Given the description of an element on the screen output the (x, y) to click on. 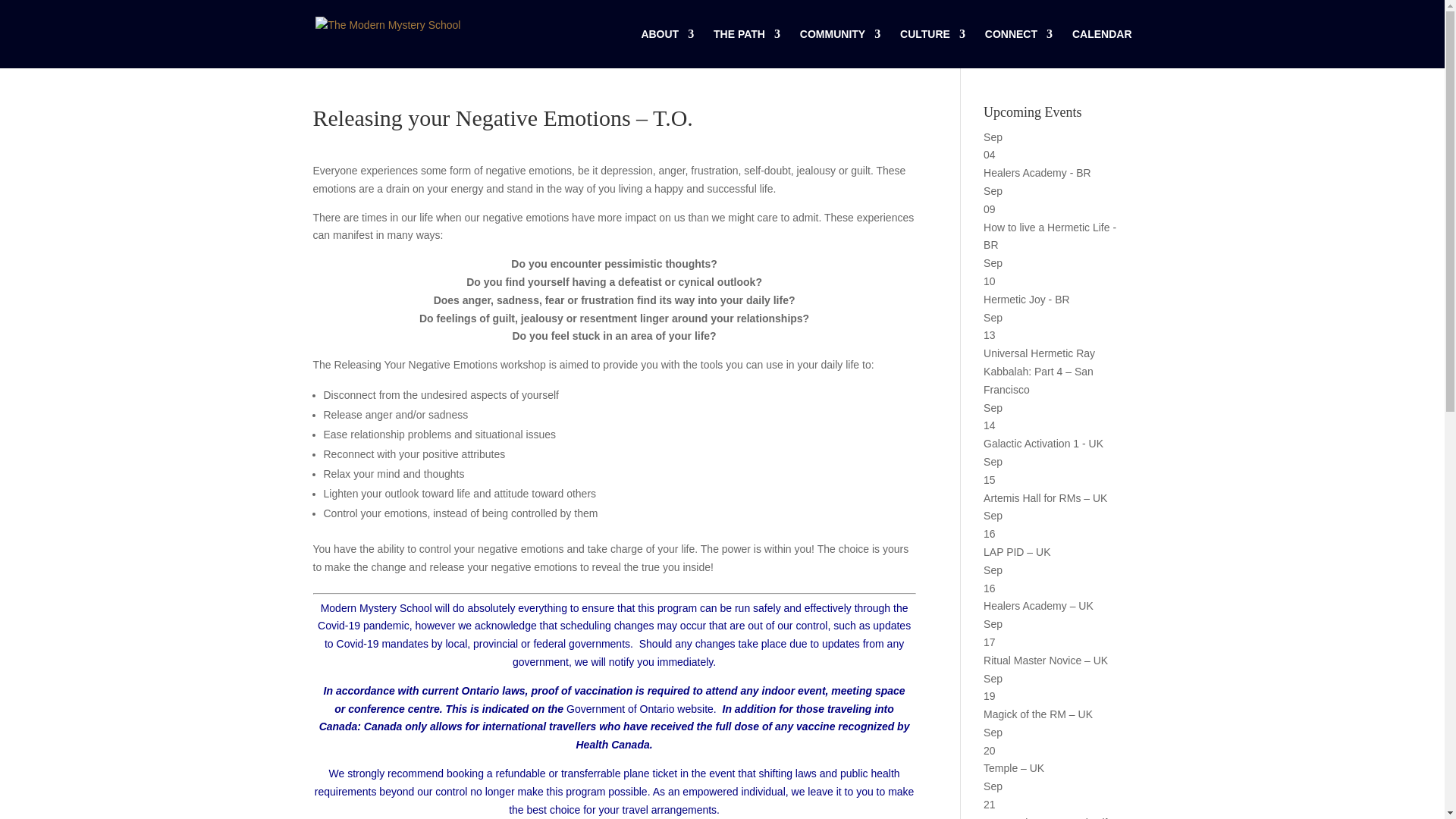
CULTURE (932, 47)
ABOUT (667, 47)
COMMUNITY (839, 47)
THE PATH (746, 47)
